Given the description of an element on the screen output the (x, y) to click on. 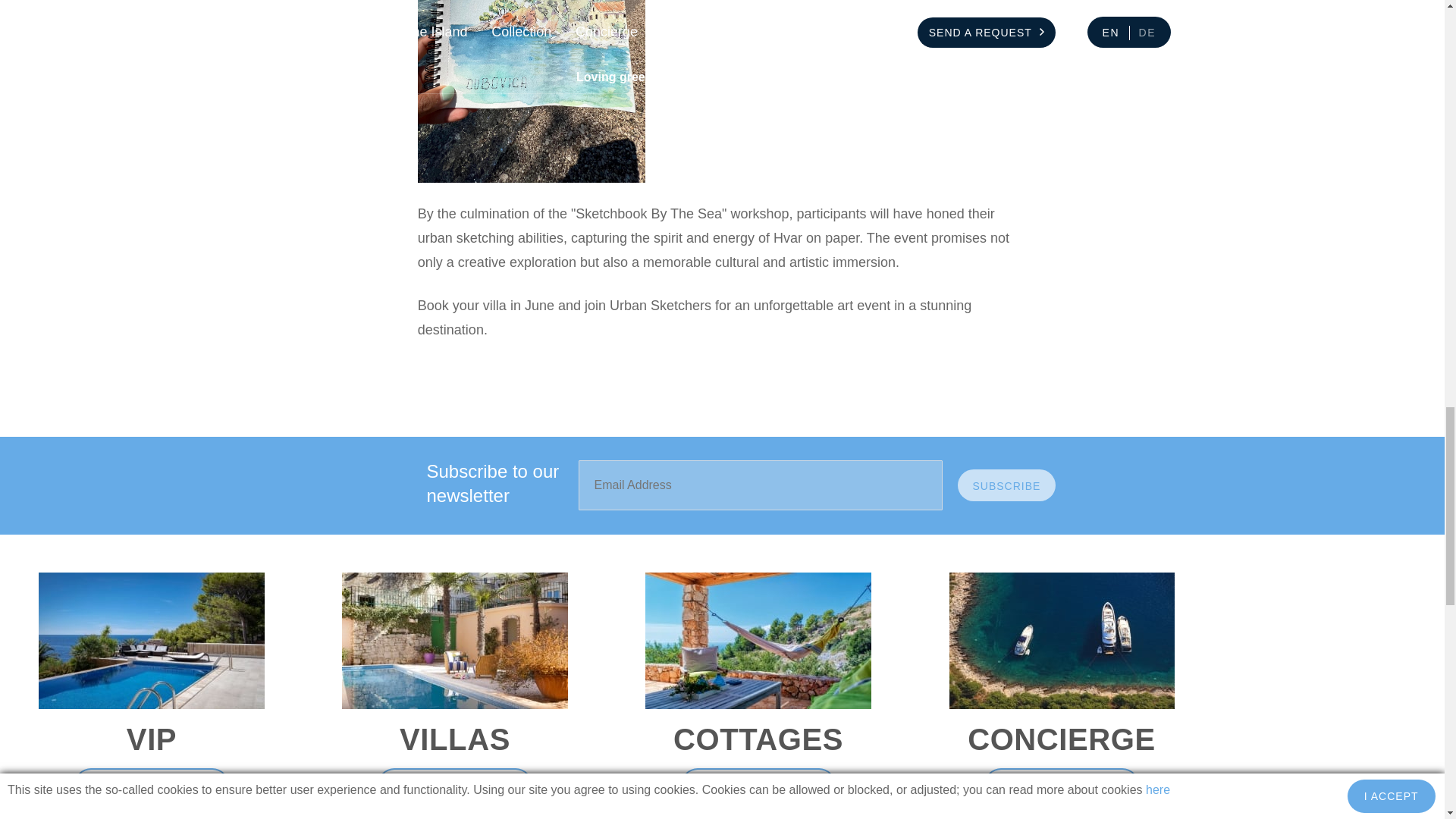
Subscribe (1005, 485)
LEARN MORE (1061, 784)
LEARN MORE (758, 784)
Subscribe (1005, 485)
LEARN MORE (151, 784)
LEARN MORE (454, 784)
